Given the description of an element on the screen output the (x, y) to click on. 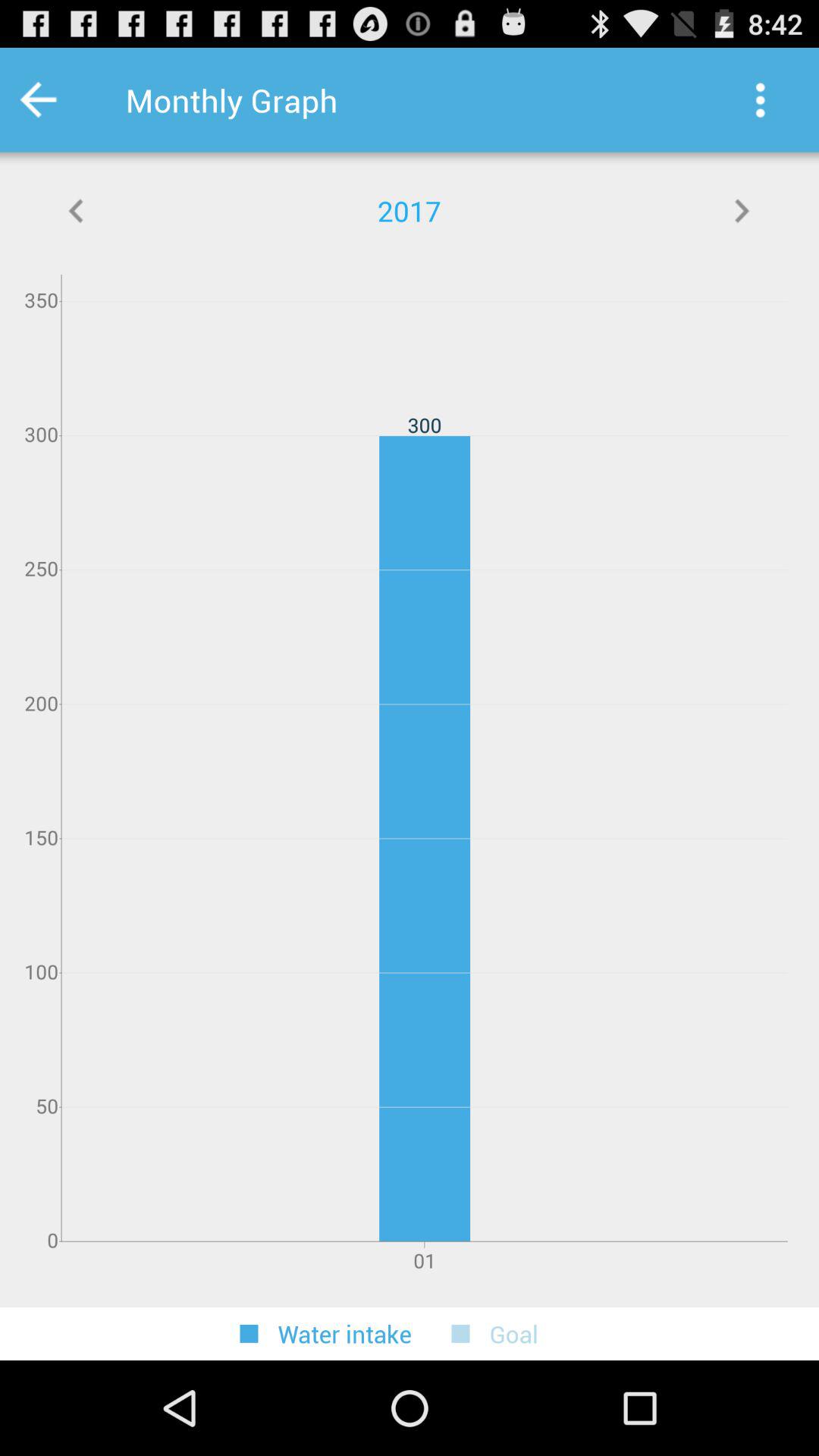
next page (742, 210)
